Given the description of an element on the screen output the (x, y) to click on. 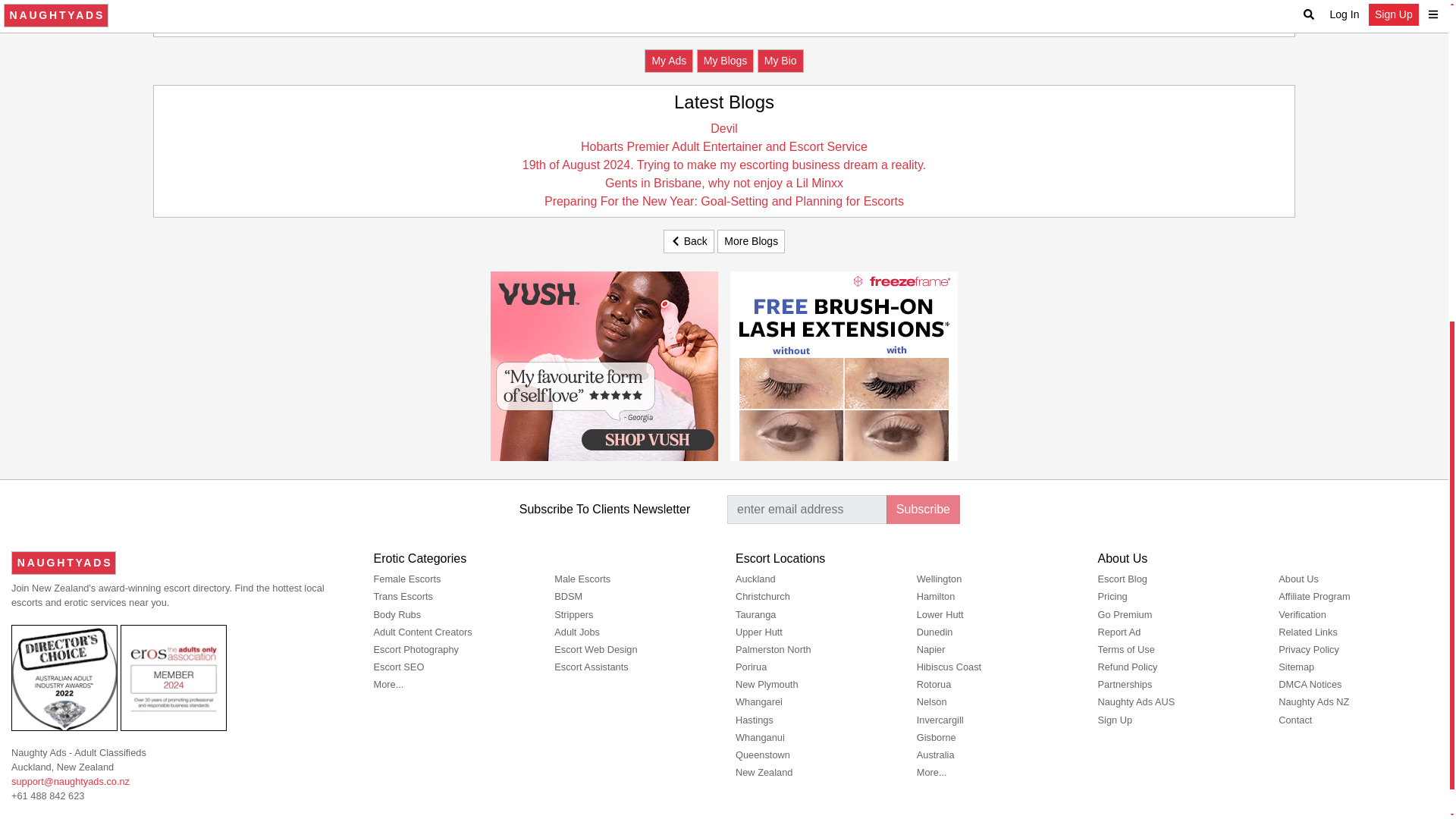
My Ads (669, 60)
My Blogs (725, 60)
Naughty Ads - Escorts Directory (63, 562)
